Given the description of an element on the screen output the (x, y) to click on. 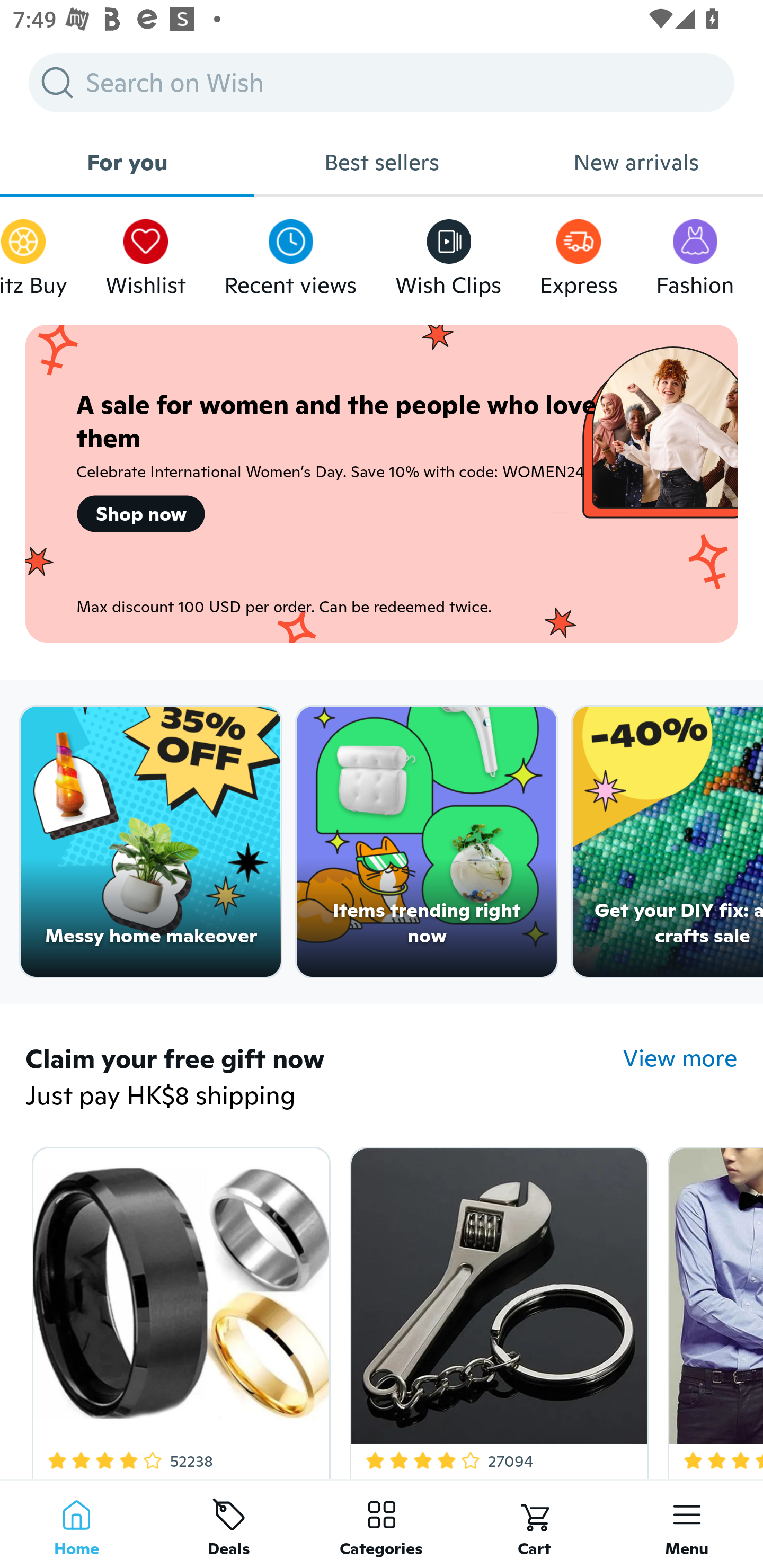
Search on Wish (381, 82)
For you (127, 161)
Best sellers (381, 161)
New arrivals (635, 161)
Blitz Buy (33, 252)
Wishlist (145, 252)
Recent views (290, 252)
Wish Clips (448, 252)
Express (578, 252)
Fashion (695, 252)
Messy home makeover (150, 841)
Items trending right now (426, 841)
Get your DIY fix: arts & crafts sale (668, 841)
Claim your free gift now
Just pay HK$8 shipping (323, 1078)
View more (679, 1058)
4.2 Star Rating 52238 Free (177, 1308)
4 Star Rating 27094 Free (495, 1308)
Home (76, 1523)
Deals (228, 1523)
Categories (381, 1523)
Cart (533, 1523)
Menu (686, 1523)
